Given the description of an element on the screen output the (x, y) to click on. 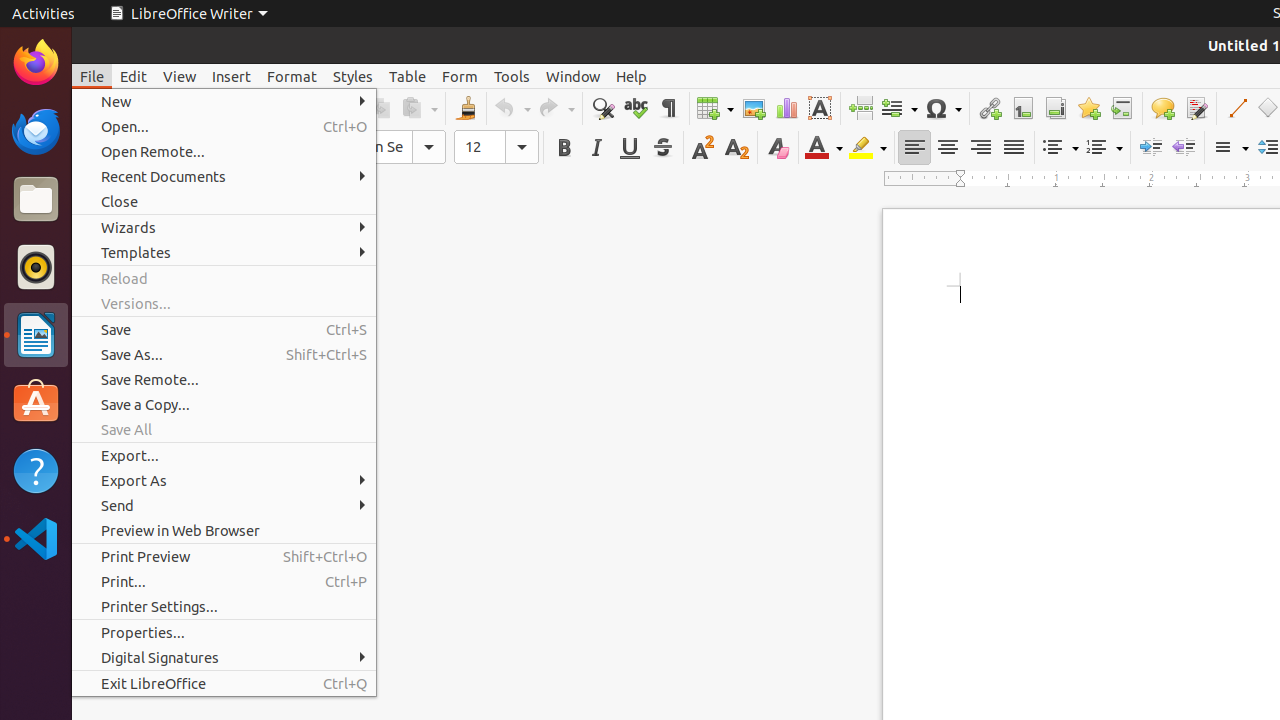
Comment Element type: push-button (1162, 108)
Redo Element type: push-button (556, 108)
Form Element type: menu (460, 76)
Styles Element type: menu (353, 76)
Preview in Web Browser Element type: menu-item (224, 530)
